Given the description of an element on the screen output the (x, y) to click on. 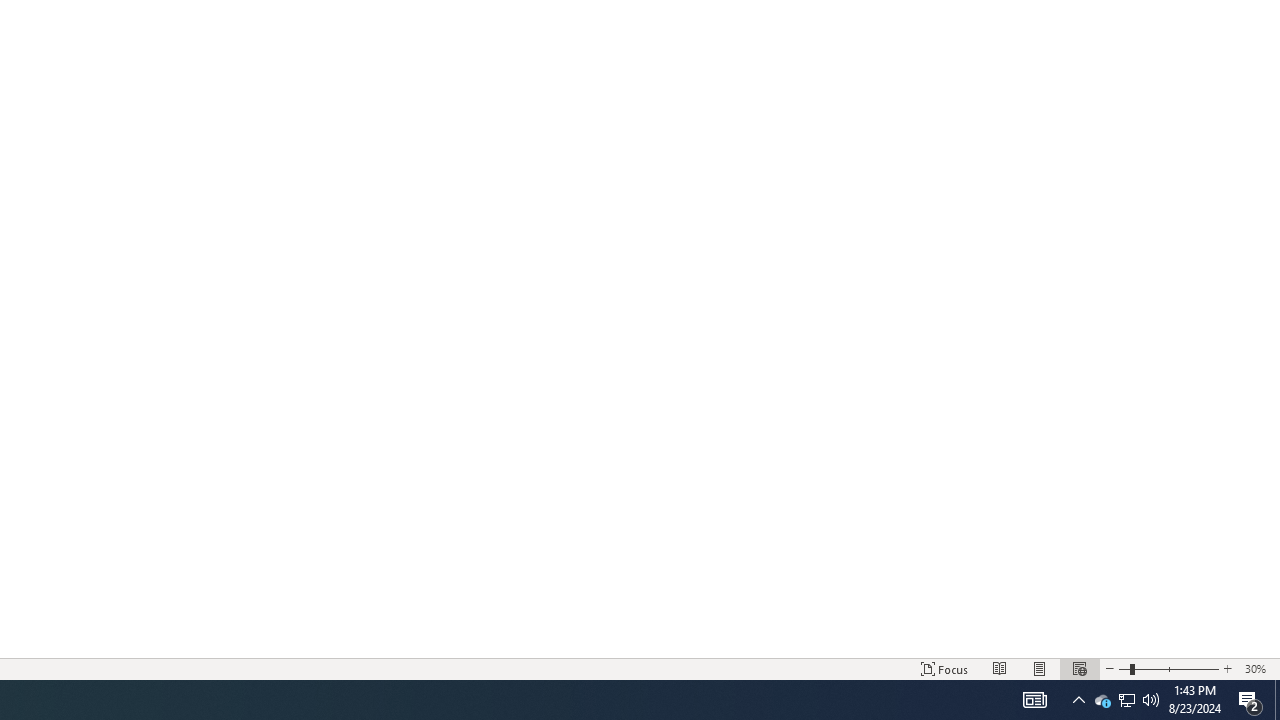
Zoom 30% (1258, 668)
